Given the description of an element on the screen output the (x, y) to click on. 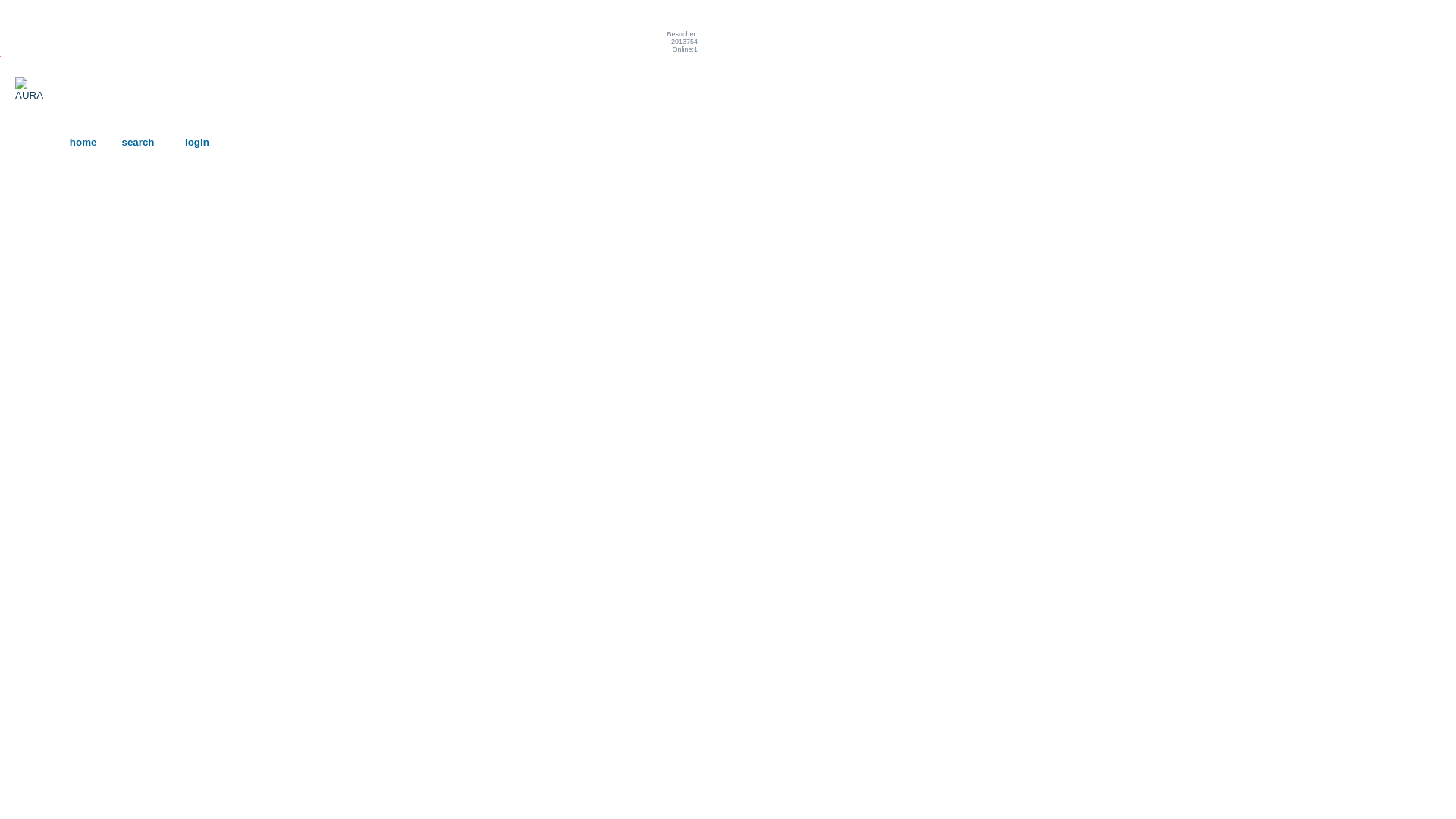
search Element type: text (137, 141)
login Element type: text (197, 141)
home Element type: text (83, 141)
